Given the description of an element on the screen output the (x, y) to click on. 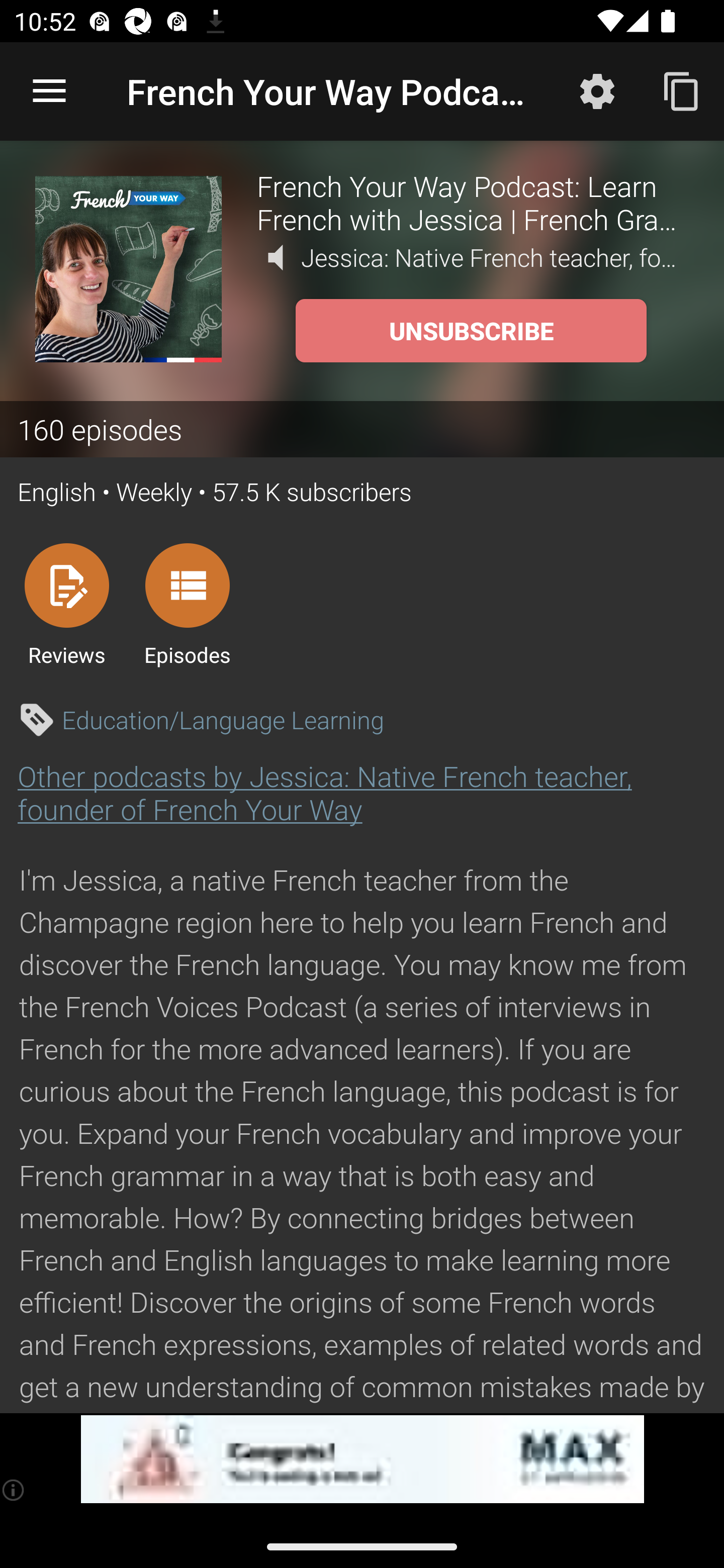
Open navigation sidebar (49, 91)
Settings (597, 90)
Copy feed url to clipboard (681, 90)
UNSUBSCRIBE (470, 330)
Reviews (66, 604)
Episodes (187, 604)
app-monetization (362, 1459)
(i) (14, 1489)
